Given the description of an element on the screen output the (x, y) to click on. 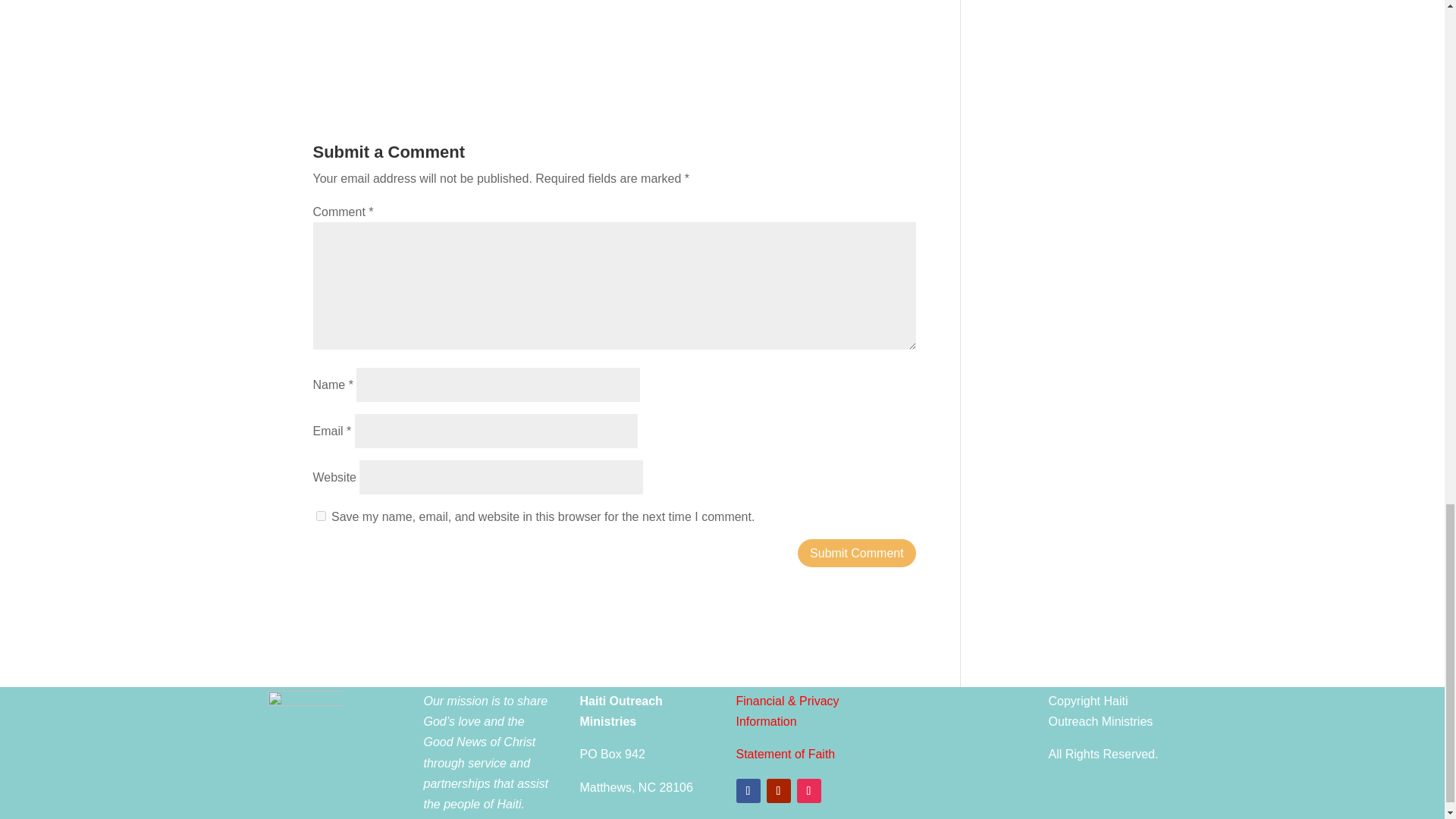
HOMlogo (304, 728)
yes (319, 515)
Follow on Instagram (808, 790)
Follow on Facebook (747, 790)
Statement of Faith (784, 753)
Follow on Youtube (777, 790)
Submit Comment (856, 552)
Submit Comment (856, 552)
